Given the description of an element on the screen output the (x, y) to click on. 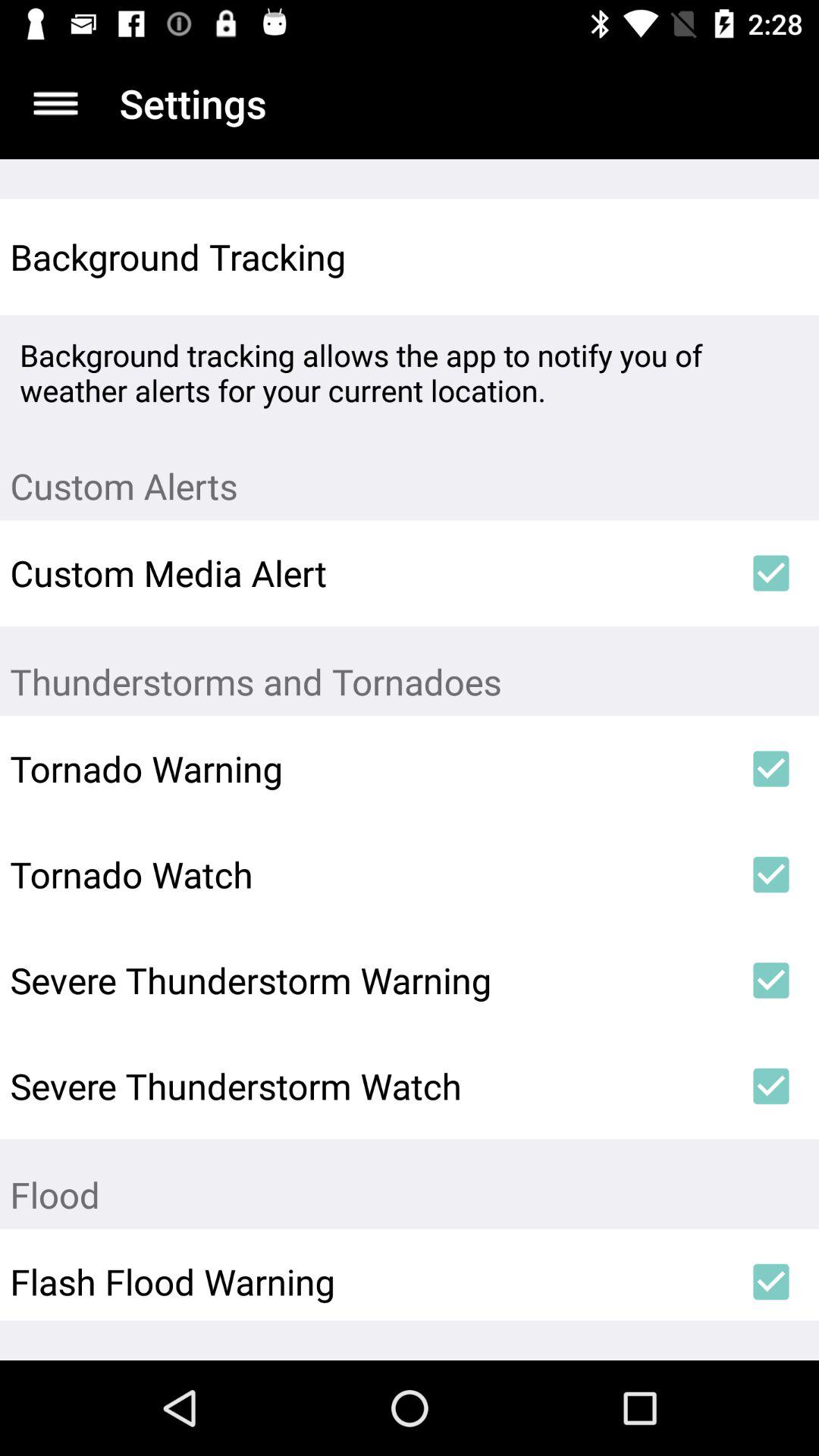
choose item below the flood item (771, 1281)
